Given the description of an element on the screen output the (x, y) to click on. 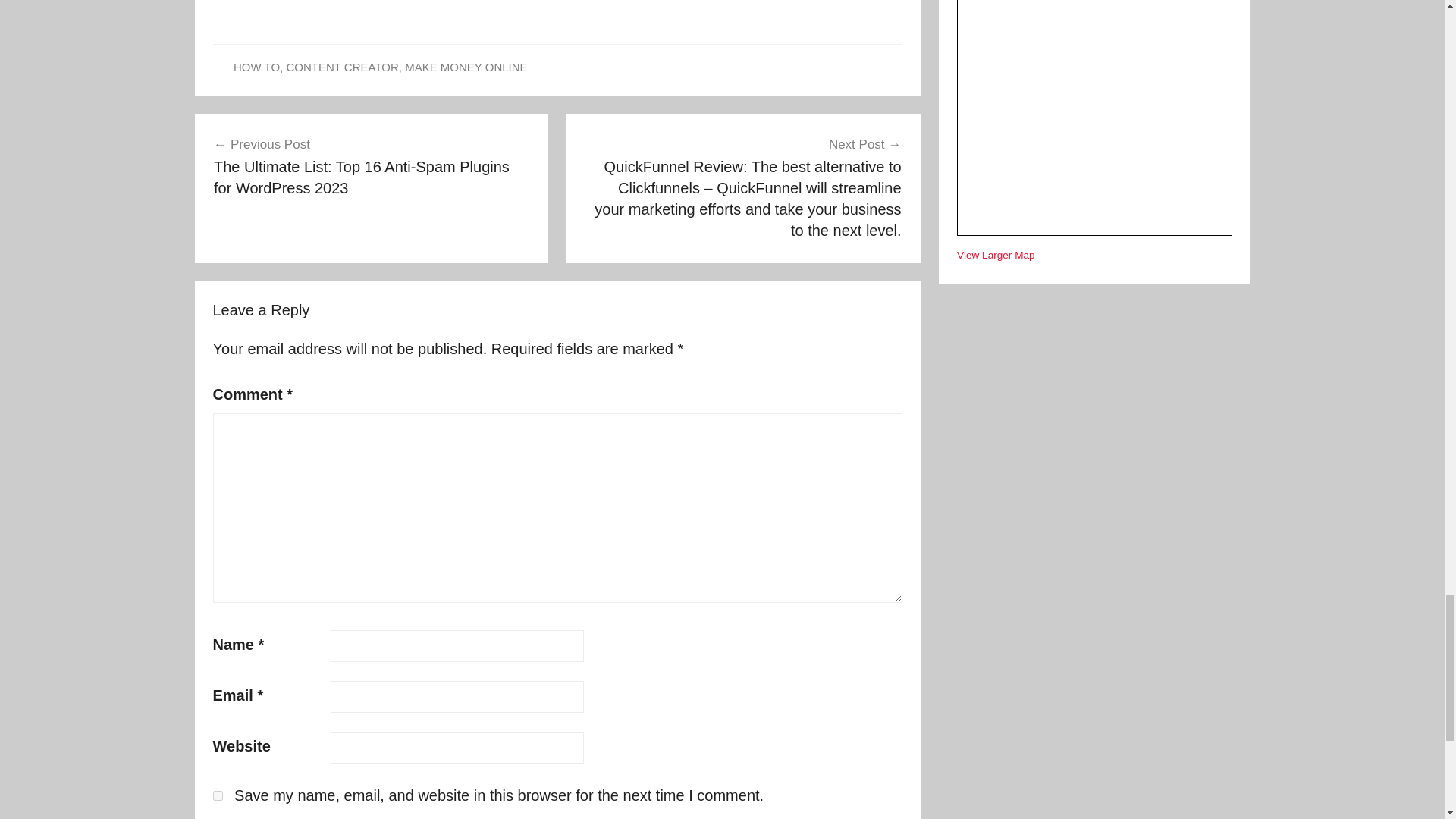
HOW TO (255, 66)
CONTENT CREATOR (341, 66)
MAKE MONEY ONLINE (465, 66)
yes (217, 795)
